Given the description of an element on the screen output the (x, y) to click on. 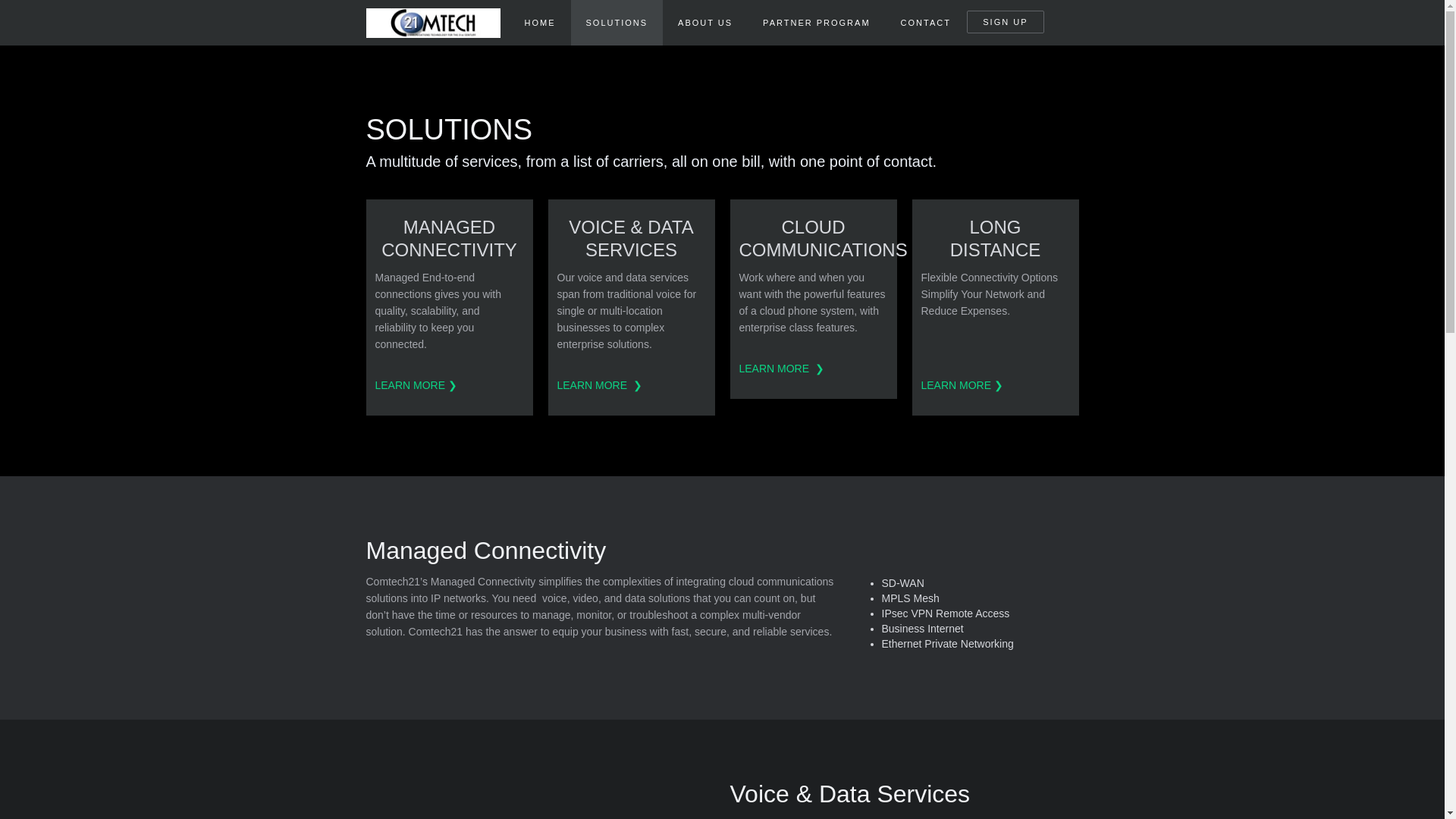
SOLUTIONS (616, 22)
PARTNER PROGRAM (816, 22)
ABOUT US (705, 22)
HOME (539, 22)
SIGN UP (1004, 21)
CONTACT (925, 22)
